Given the description of an element on the screen output the (x, y) to click on. 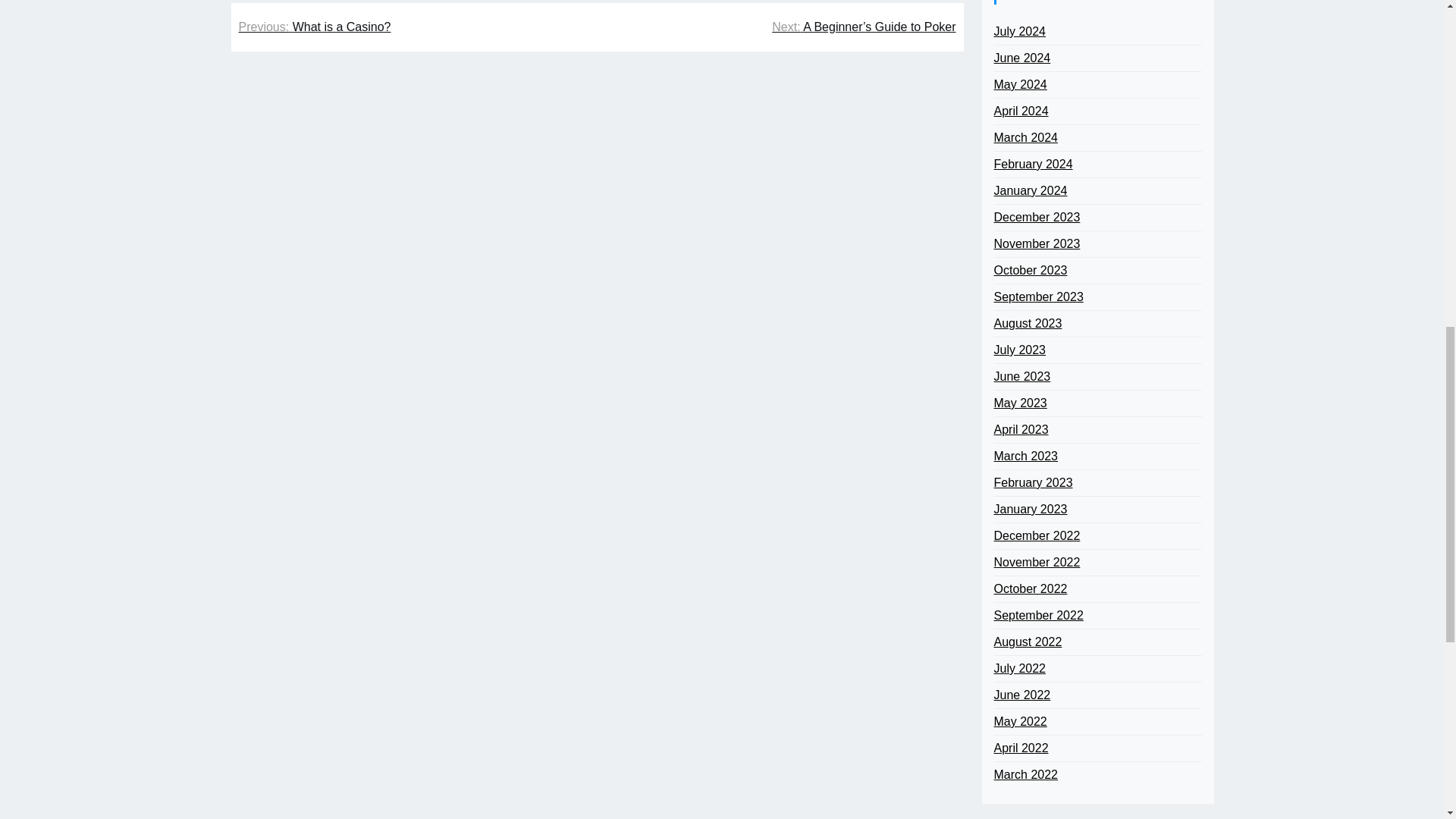
Previous: What is a Casino? (314, 27)
September 2023 (1037, 297)
June 2024 (1020, 58)
July 2023 (1018, 350)
January 2024 (1029, 190)
November 2023 (1036, 244)
May 2024 (1019, 85)
April 2024 (1020, 111)
February 2024 (1031, 164)
March 2024 (1025, 137)
October 2023 (1029, 270)
June 2023 (1020, 376)
December 2023 (1036, 217)
March 2023 (1025, 456)
May 2023 (1019, 402)
